Given the description of an element on the screen output the (x, y) to click on. 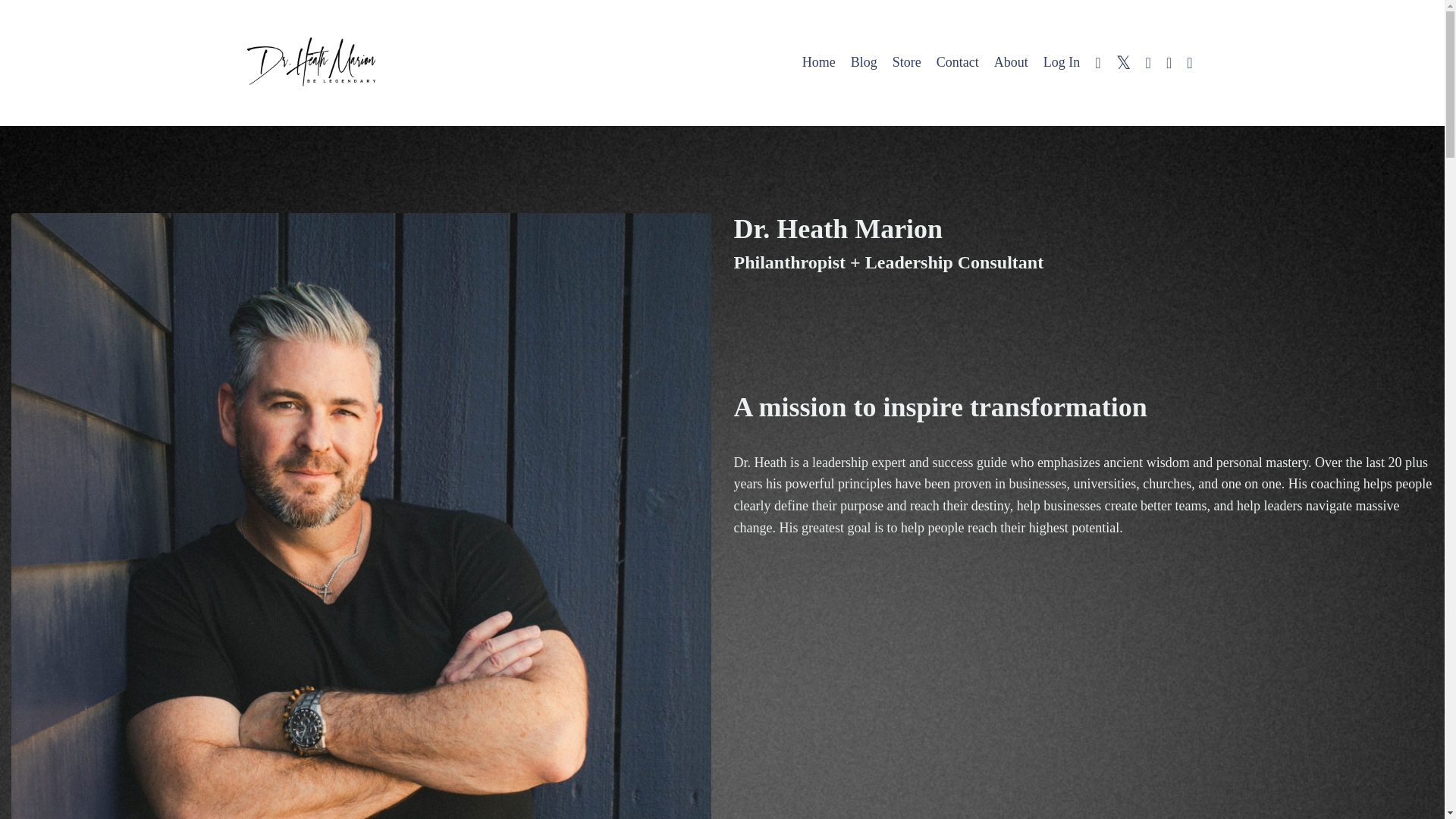
Blog (863, 62)
Contact (957, 62)
About (1010, 62)
Log In (1061, 61)
Home (818, 62)
Store (906, 62)
